Given the description of an element on the screen output the (x, y) to click on. 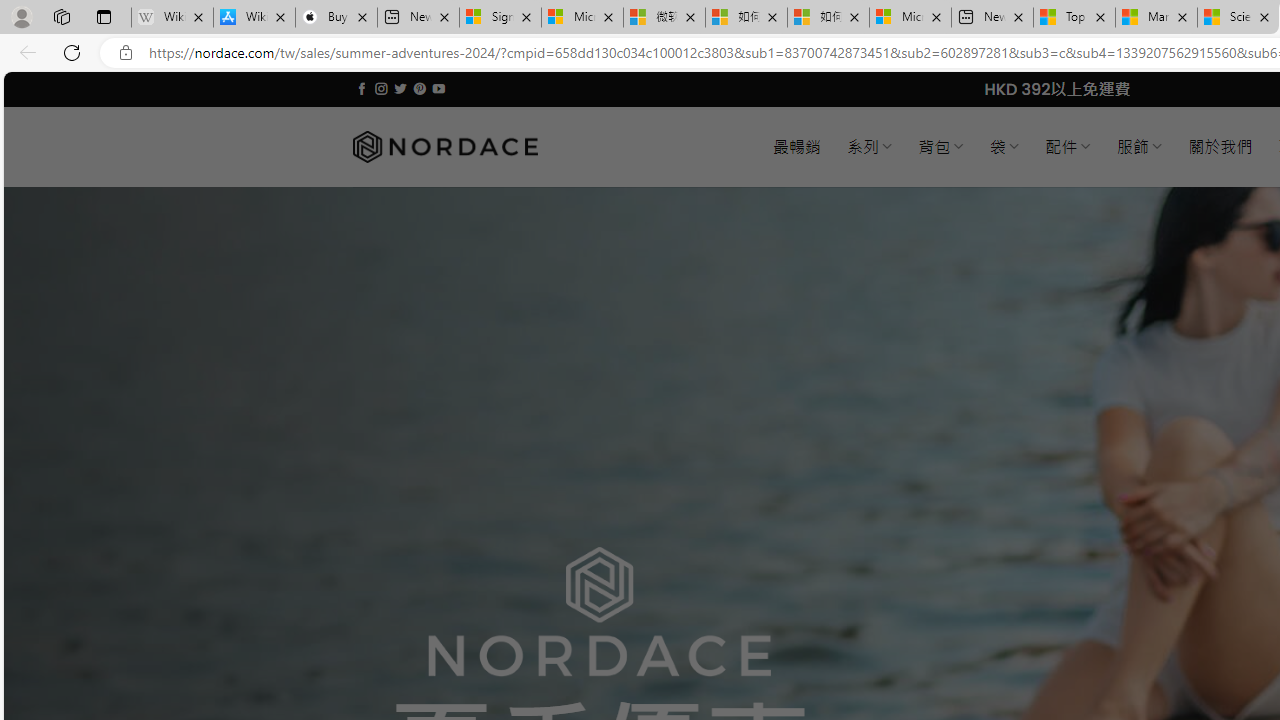
Follow on Instagram (381, 88)
Follow on YouTube (438, 88)
